Given the description of an element on the screen output the (x, y) to click on. 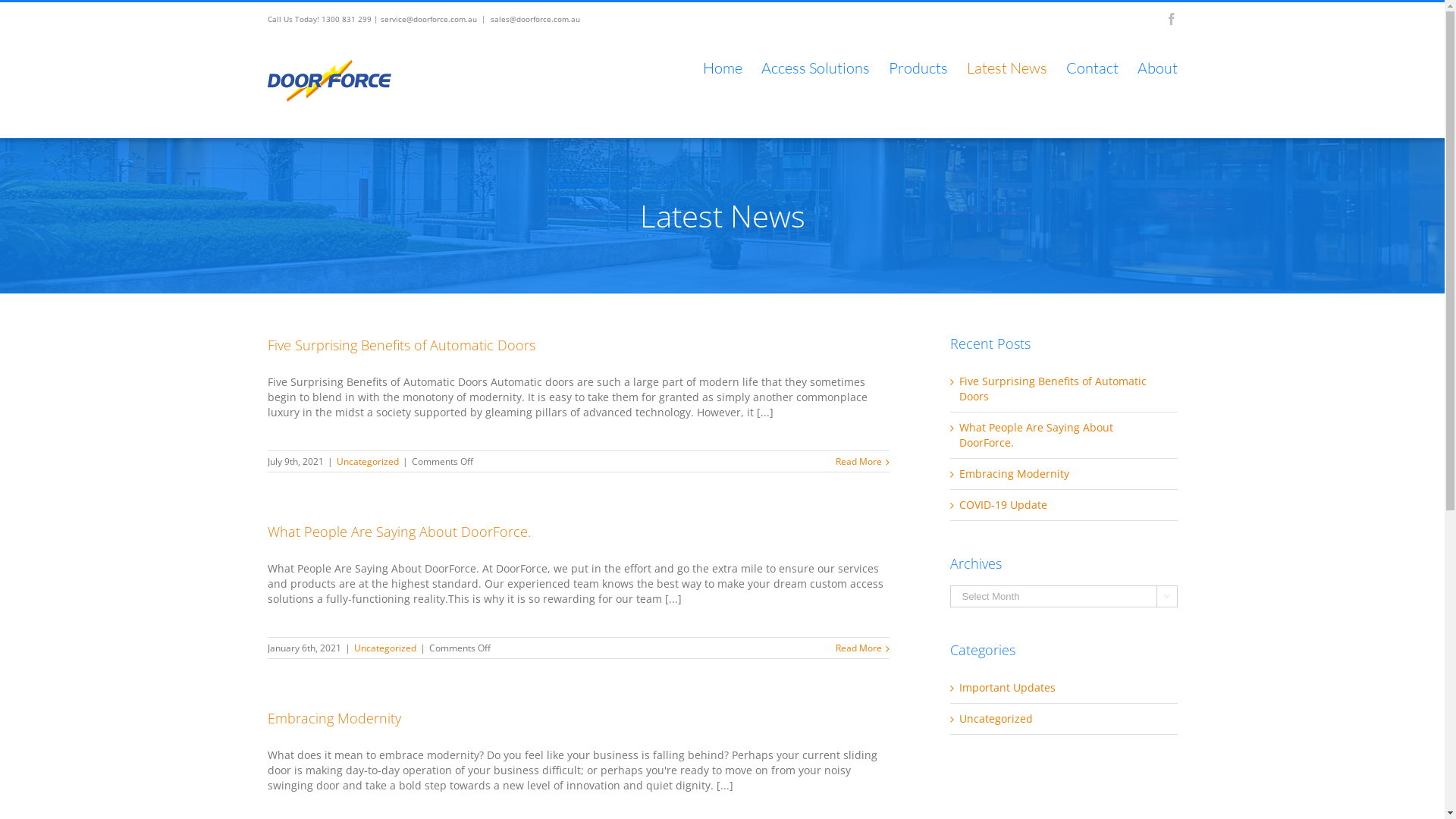
sales@doorforce.com.au Element type: text (534, 18)
What People Are Saying About DoorForce. Element type: text (1035, 434)
Embracing Modernity Element type: text (333, 718)
Five Surprising Benefits of Automatic Doors Element type: text (1051, 387)
Products Element type: text (917, 68)
Uncategorized Element type: text (384, 647)
Read More Element type: text (858, 647)
Uncategorized Element type: text (367, 461)
Five Surprising Benefits of Automatic Doors Element type: text (400, 344)
Uncategorized Element type: text (1063, 718)
Facebook Element type: text (1170, 18)
Embracing Modernity Element type: text (1013, 473)
What People Are Saying About DoorForce. Element type: text (398, 531)
Latest News Element type: text (1006, 68)
service@doorforce.com.au Element type: text (428, 18)
Access Solutions Element type: text (815, 68)
Read More Element type: text (858, 461)
Home Element type: text (721, 68)
COVID-19 Update Element type: text (1002, 504)
Contact Element type: text (1092, 68)
About Element type: text (1157, 68)
Important Updates Element type: text (1063, 687)
